Given the description of an element on the screen output the (x, y) to click on. 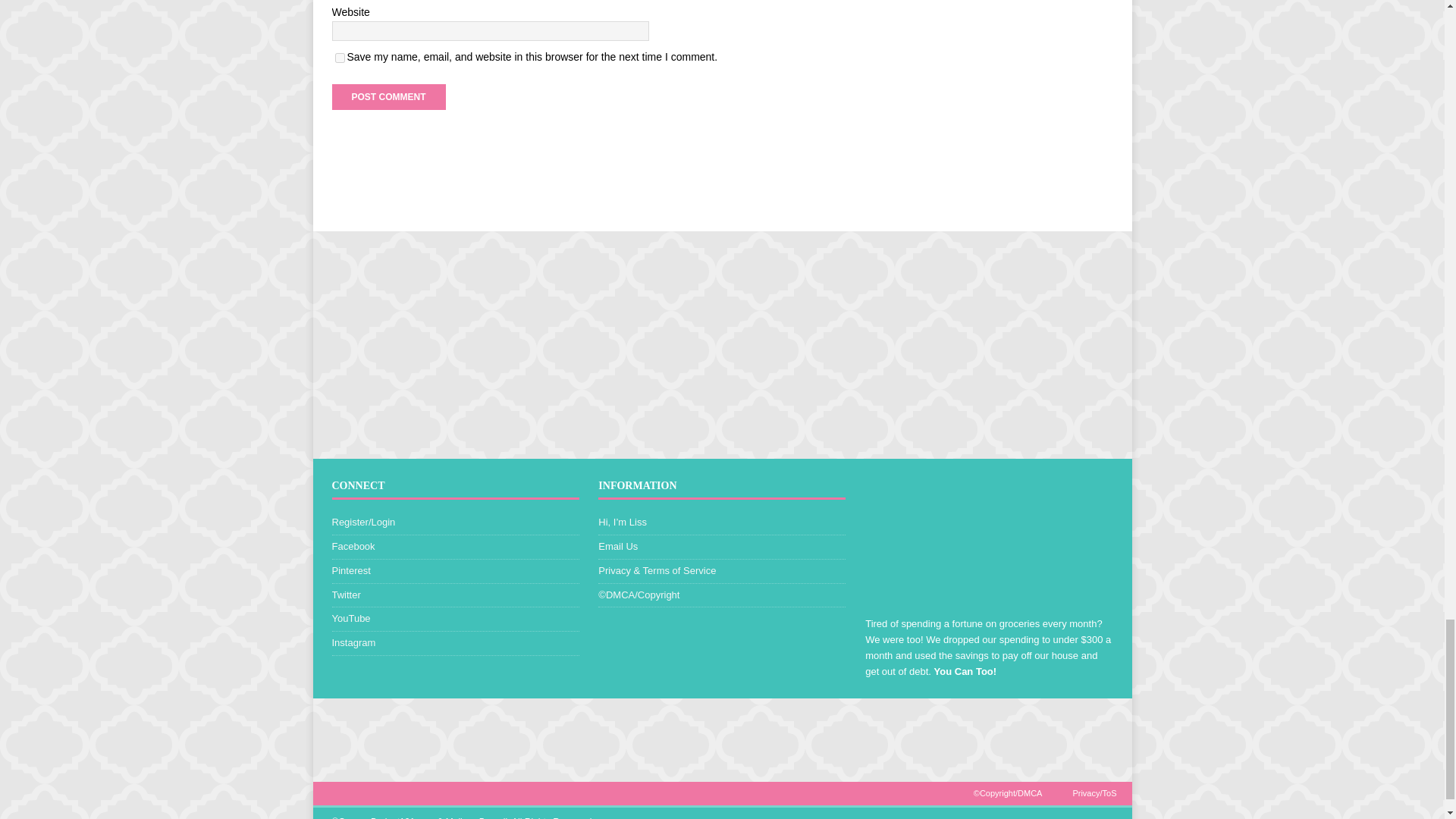
Post Comment (388, 96)
yes (339, 58)
